Given the description of an element on the screen output the (x, y) to click on. 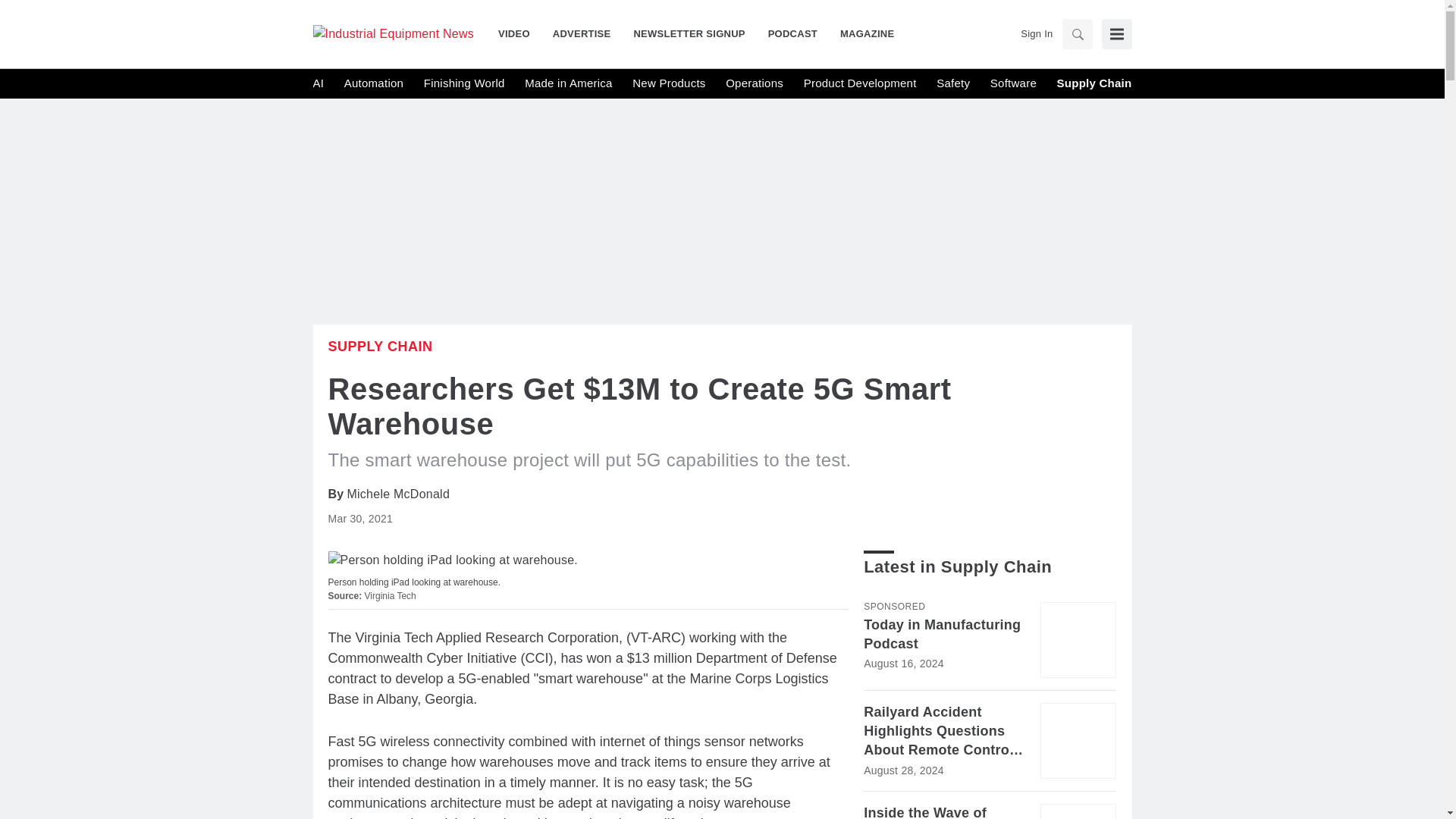
Product Development (860, 83)
Automation (373, 83)
PODCAST (792, 33)
Made in America (567, 83)
Supply Chain (379, 346)
Sponsored (893, 605)
ADVERTISE (582, 33)
Supply Chain (1094, 83)
Operations (754, 83)
Safety (952, 83)
